Given the description of an element on the screen output the (x, y) to click on. 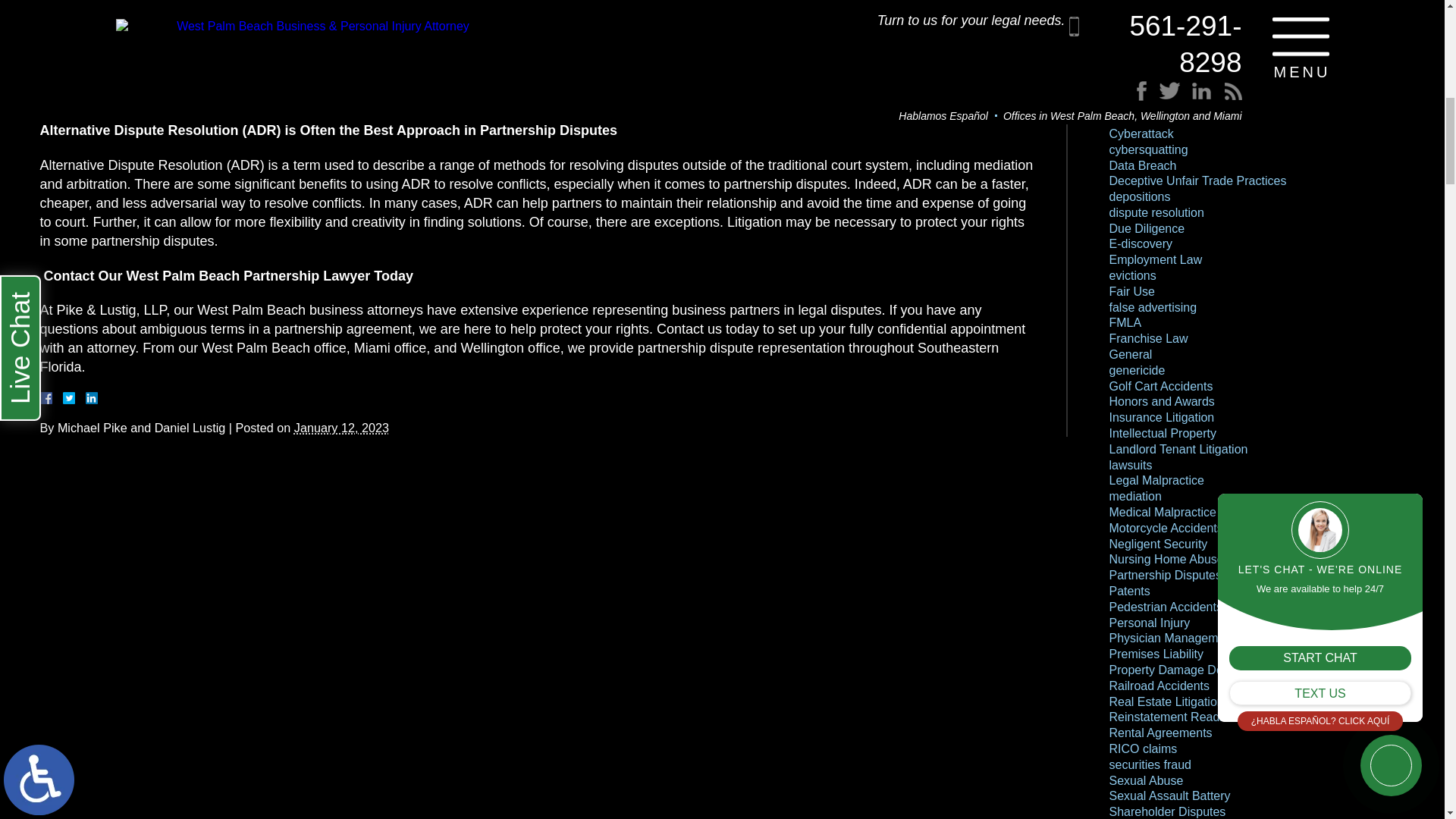
2023-01-12T03:00:27-0800 (341, 427)
Twitter (74, 398)
LinkedIn (85, 398)
Facebook (63, 398)
